Given the description of an element on the screen output the (x, y) to click on. 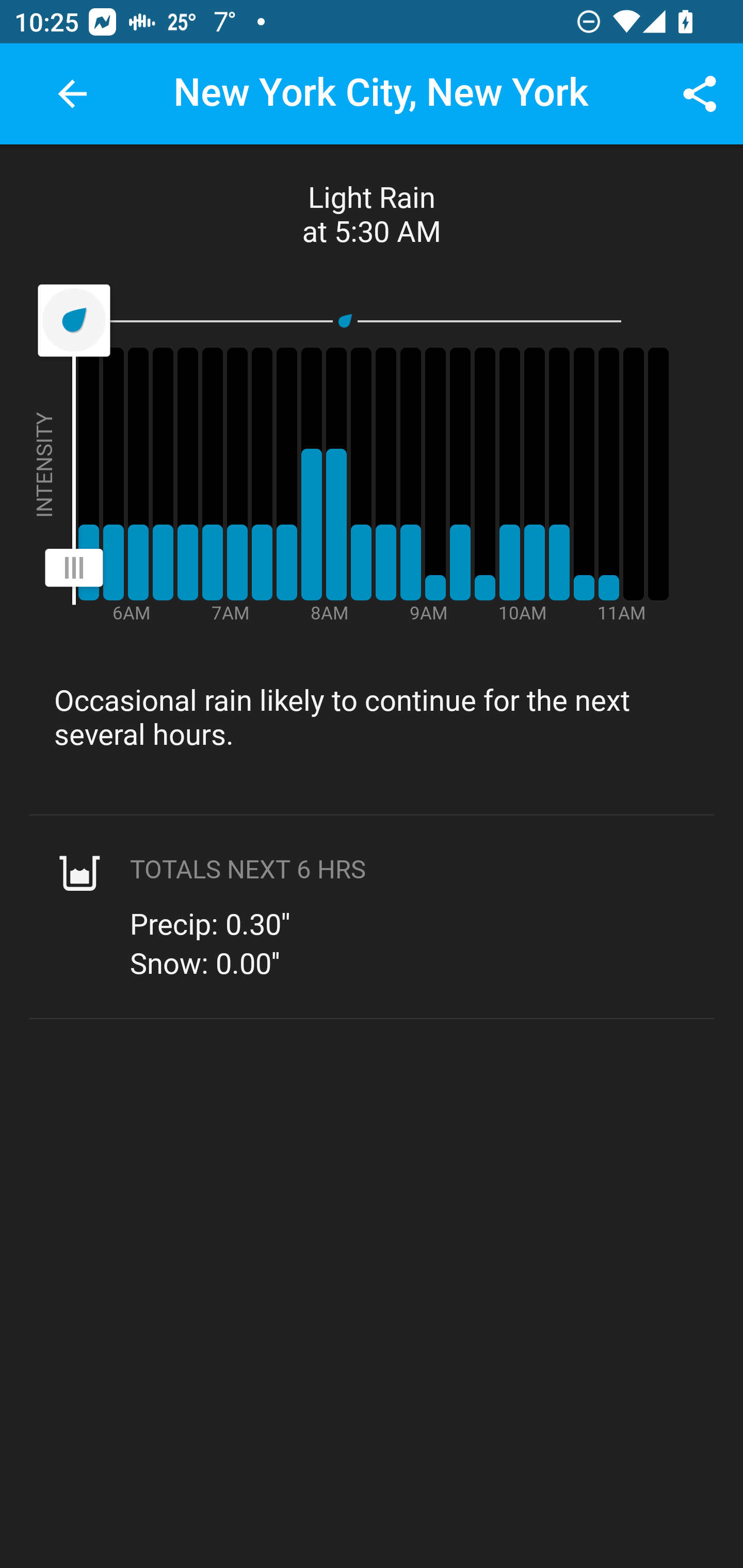
back (71, 93)
Share (699, 93)
